Given the description of an element on the screen output the (x, y) to click on. 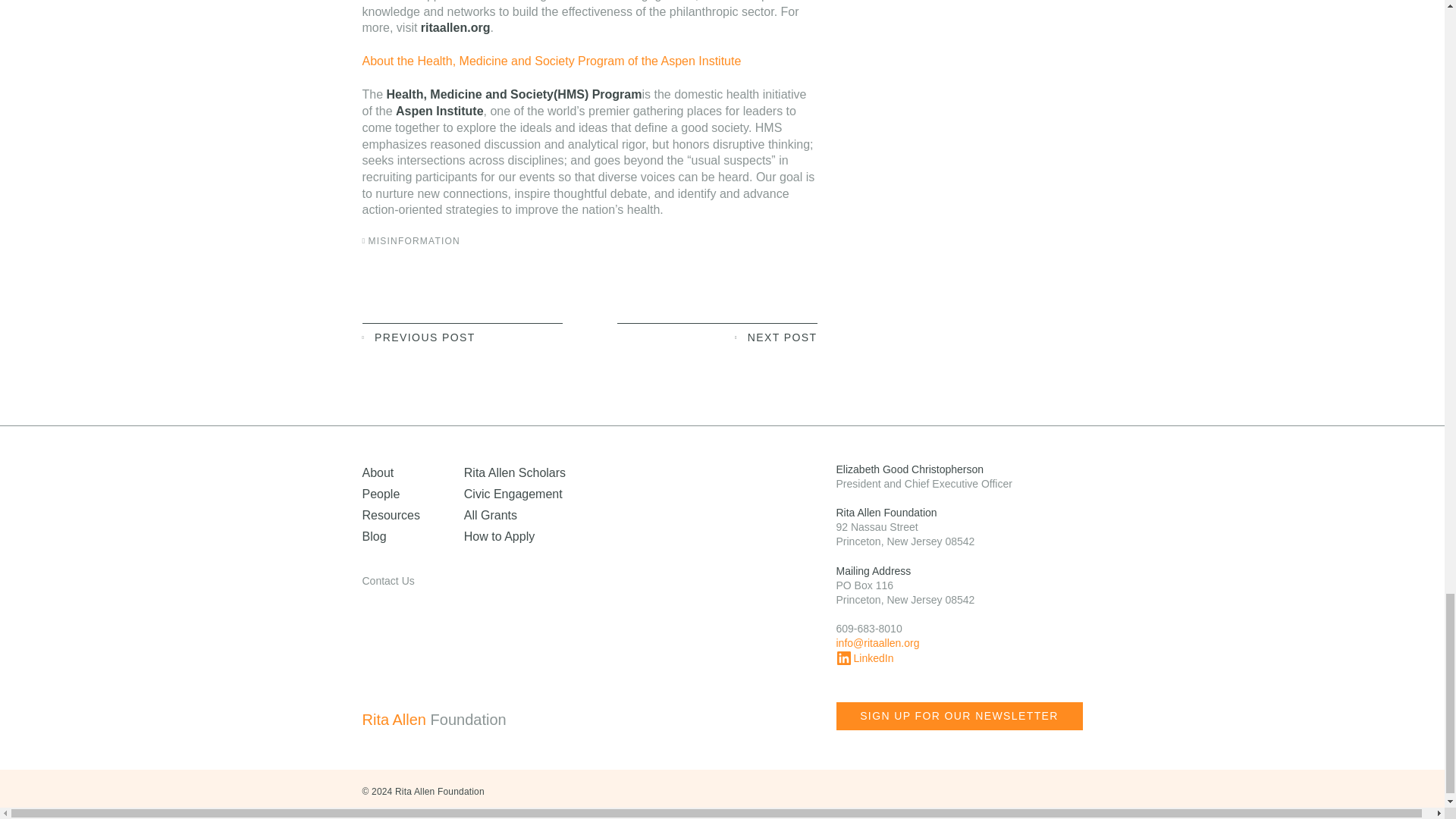
Rita Allen Scholars (515, 472)
About (378, 472)
PREVIOUS POST (462, 335)
Blog (374, 535)
Resources (391, 514)
Rita Allen Foundation (464, 719)
Aspen Institute (439, 110)
ritaallen.org (455, 27)
Civic Engagement (513, 493)
MISINFORMATION (414, 240)
All Grants (490, 514)
How to Apply (499, 535)
People (381, 493)
NEXT POST (716, 335)
Contact Us (388, 580)
